Given the description of an element on the screen output the (x, y) to click on. 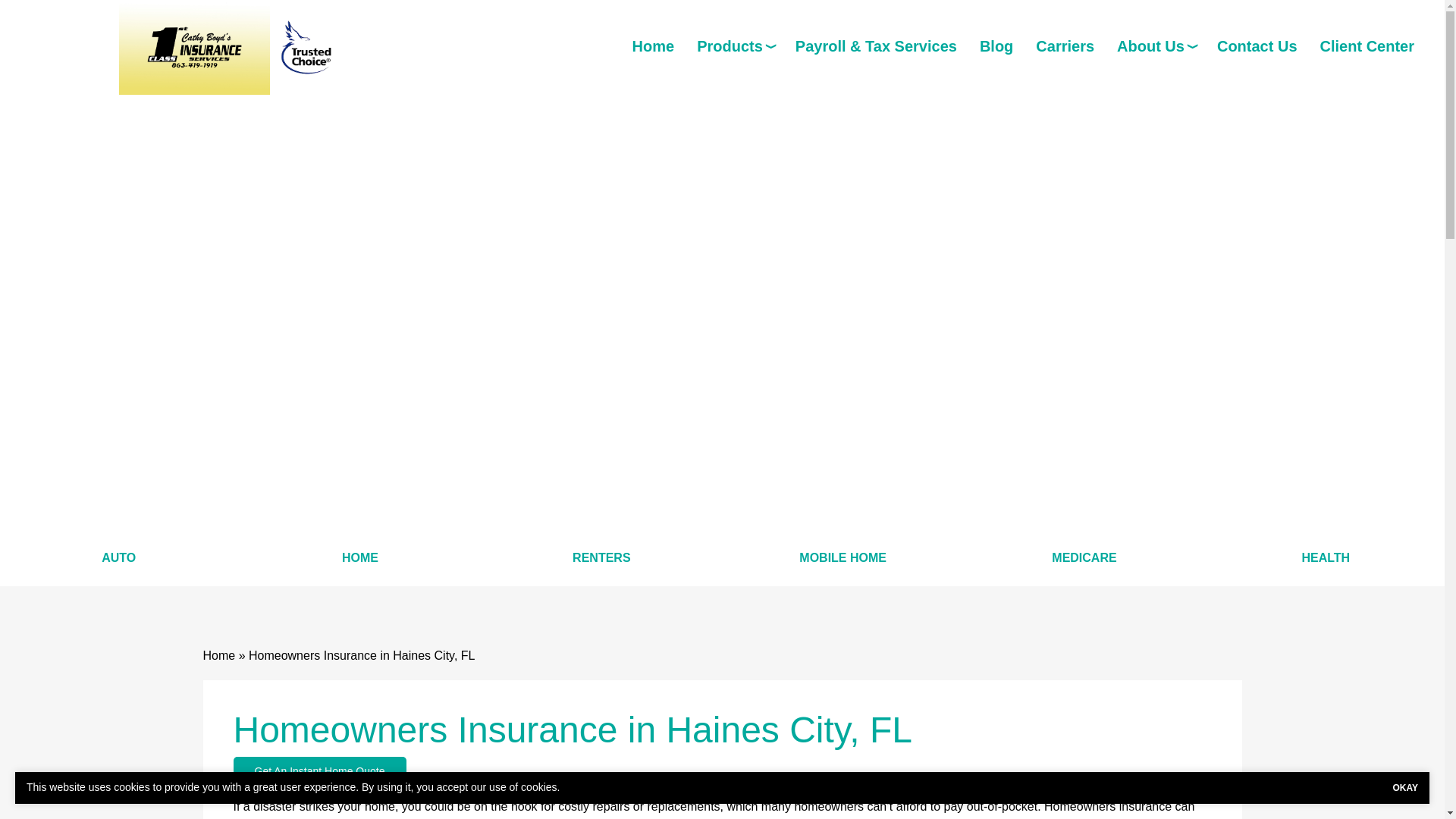
Blog (996, 46)
Carriers (1064, 46)
Home (653, 46)
Products (735, 46)
About Us (1154, 46)
